Given the description of an element on the screen output the (x, y) to click on. 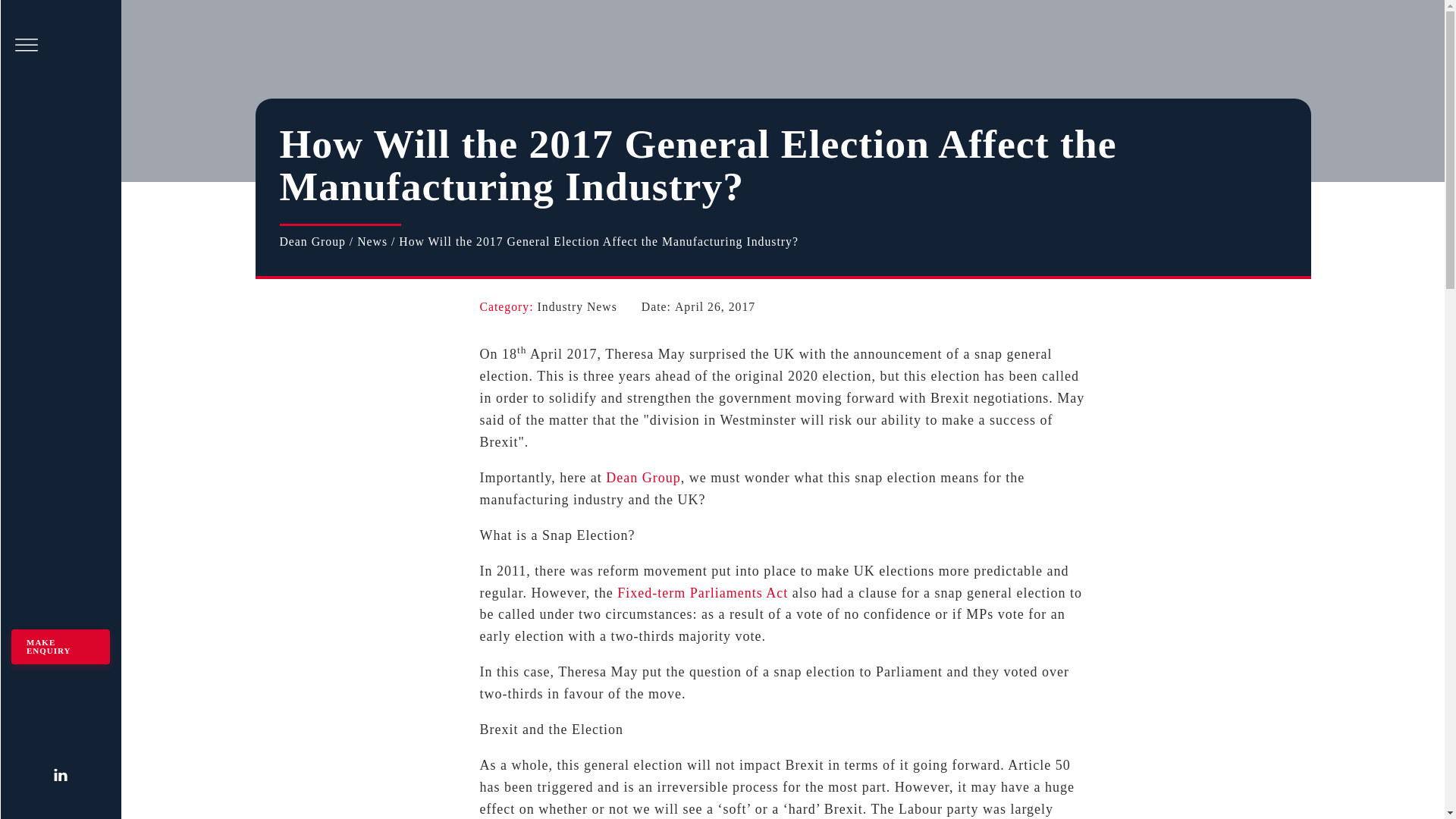
Industry News (577, 306)
News (371, 241)
MAKE ENQUIRY (60, 646)
Fixed-term Parliaments Act (702, 592)
Dean Group (642, 477)
Dean Group (312, 241)
